Given the description of an element on the screen output the (x, y) to click on. 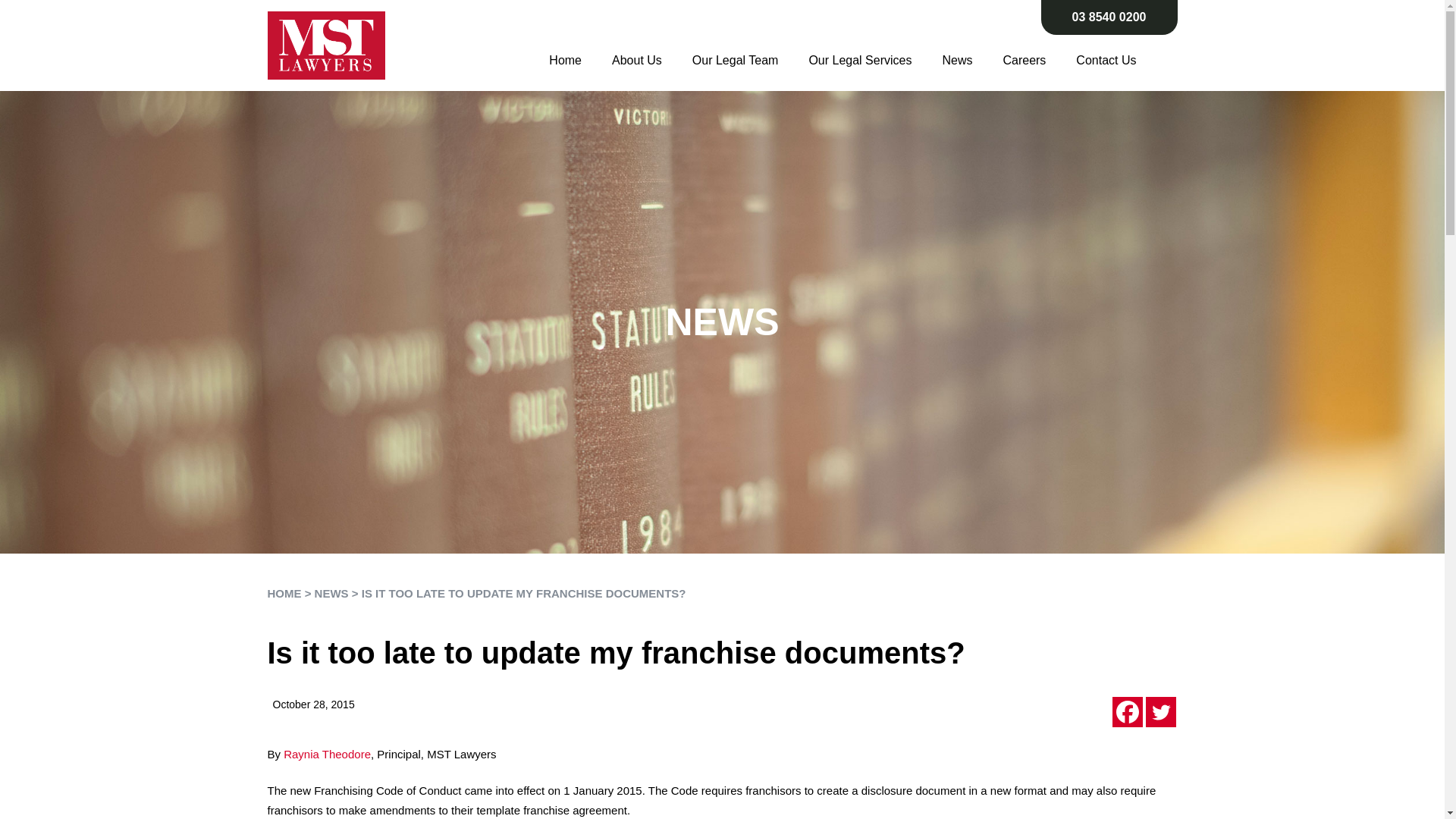
Our Legal Team (735, 45)
Facebook (1126, 711)
Twitter (1159, 711)
Facebook (1393, 17)
03 8540 0200 (1108, 17)
Contact Us (1106, 45)
Raynia Theodore (327, 753)
Our Legal Services (859, 45)
Twitter (1427, 17)
